Given the description of an element on the screen output the (x, y) to click on. 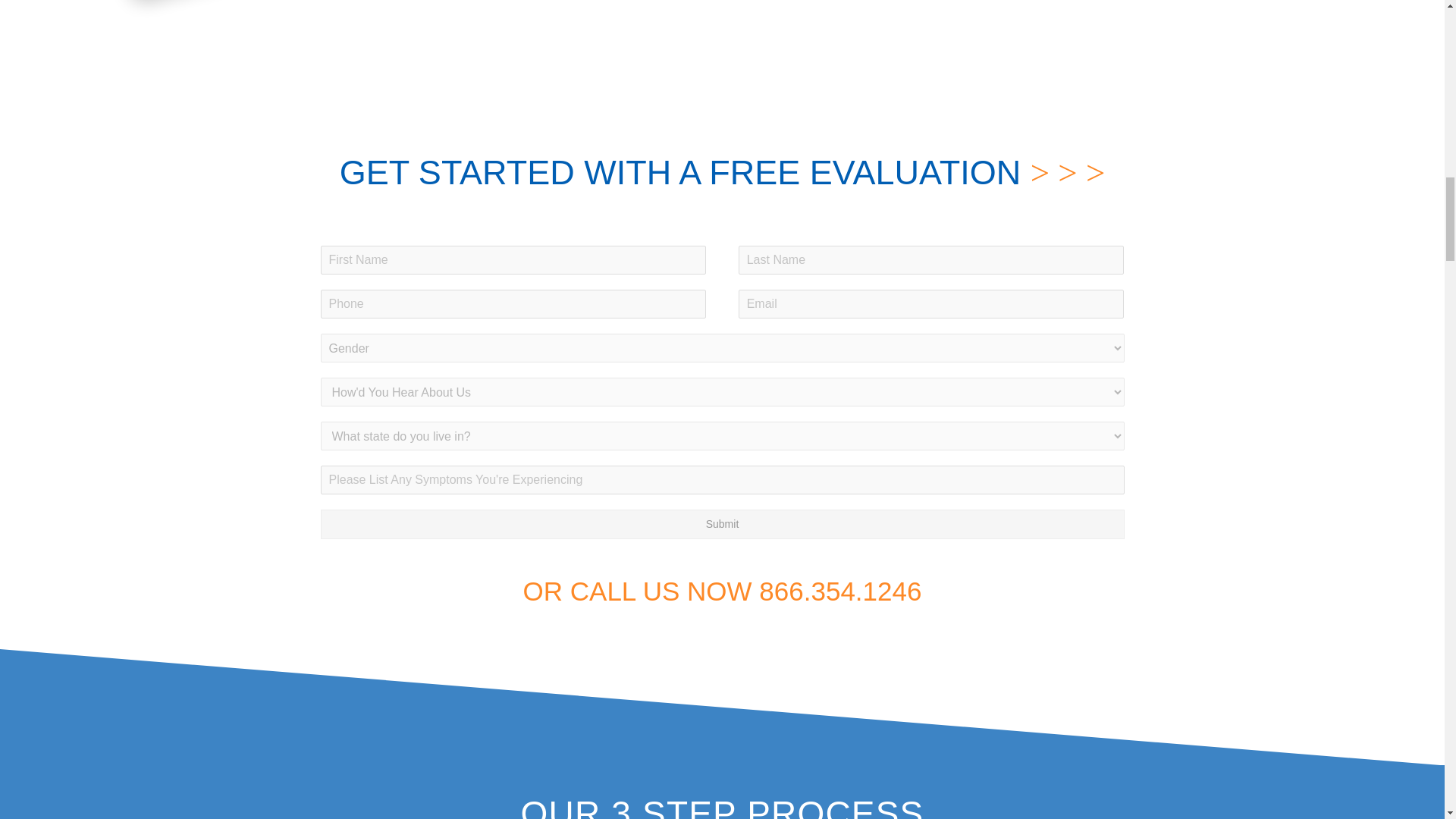
866.354.1246 (839, 591)
Submit (722, 523)
